Given the description of an element on the screen output the (x, y) to click on. 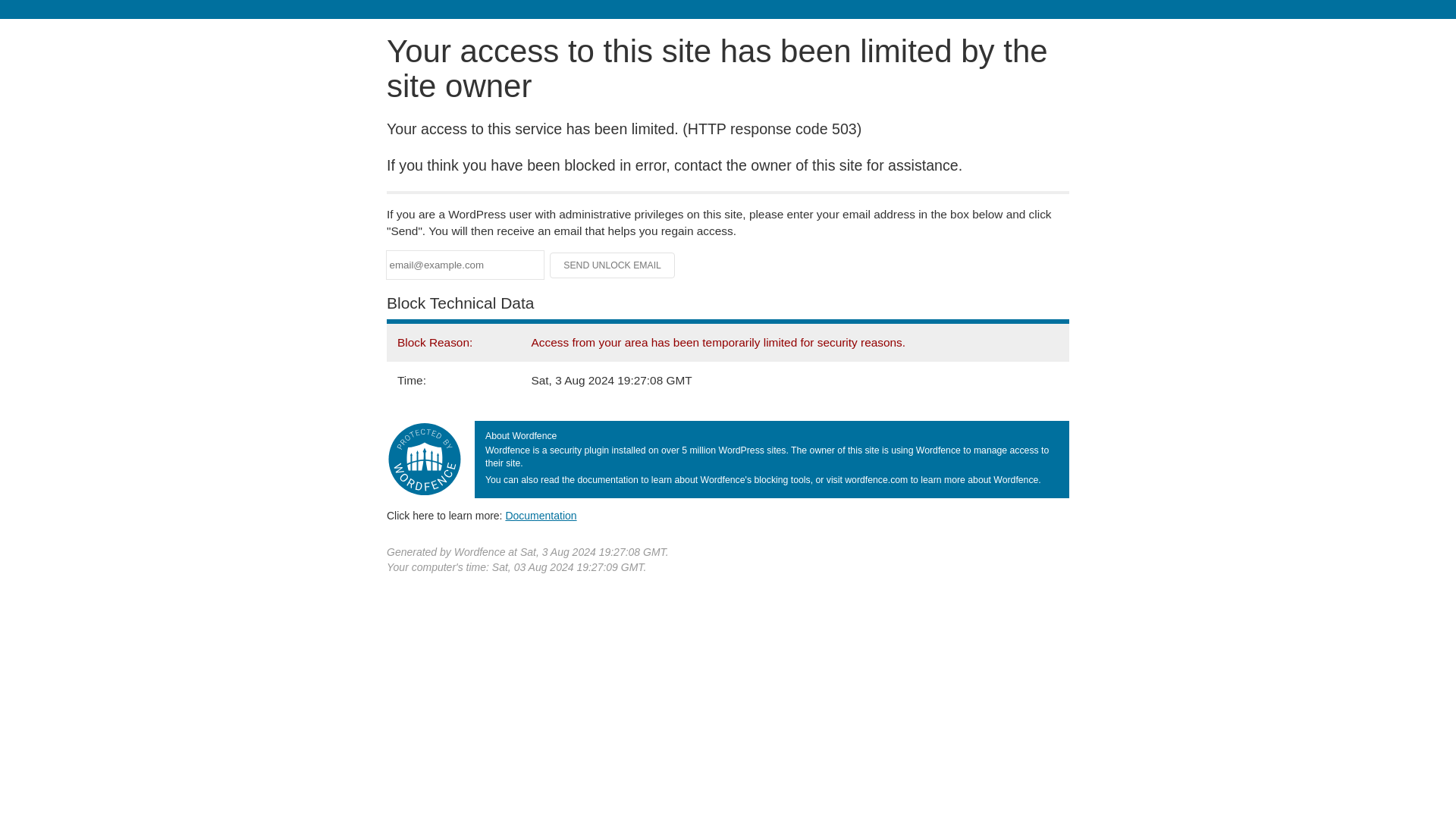
Send Unlock Email (612, 265)
Documentation (540, 515)
Send Unlock Email (612, 265)
